Given the description of an element on the screen output the (x, y) to click on. 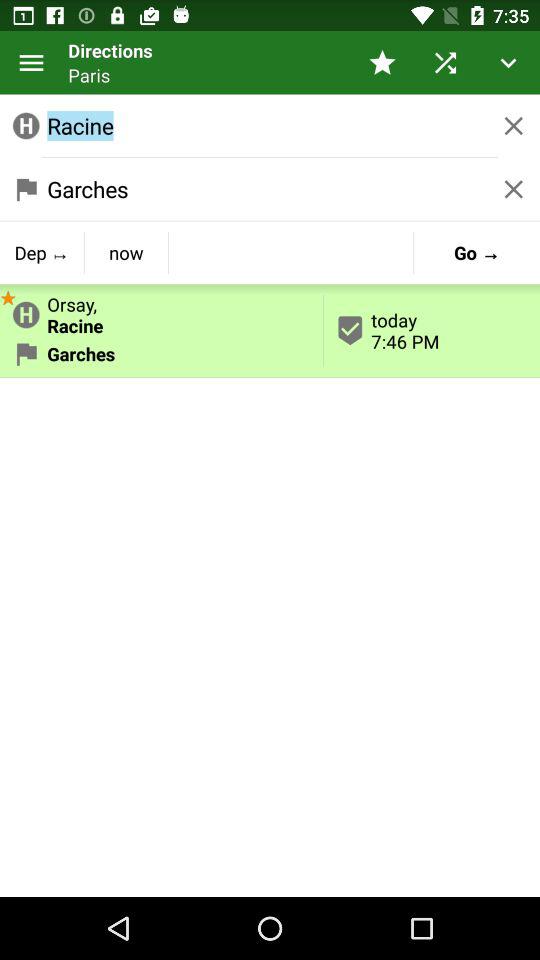
turn off item below garches icon (42, 252)
